Given the description of an element on the screen output the (x, y) to click on. 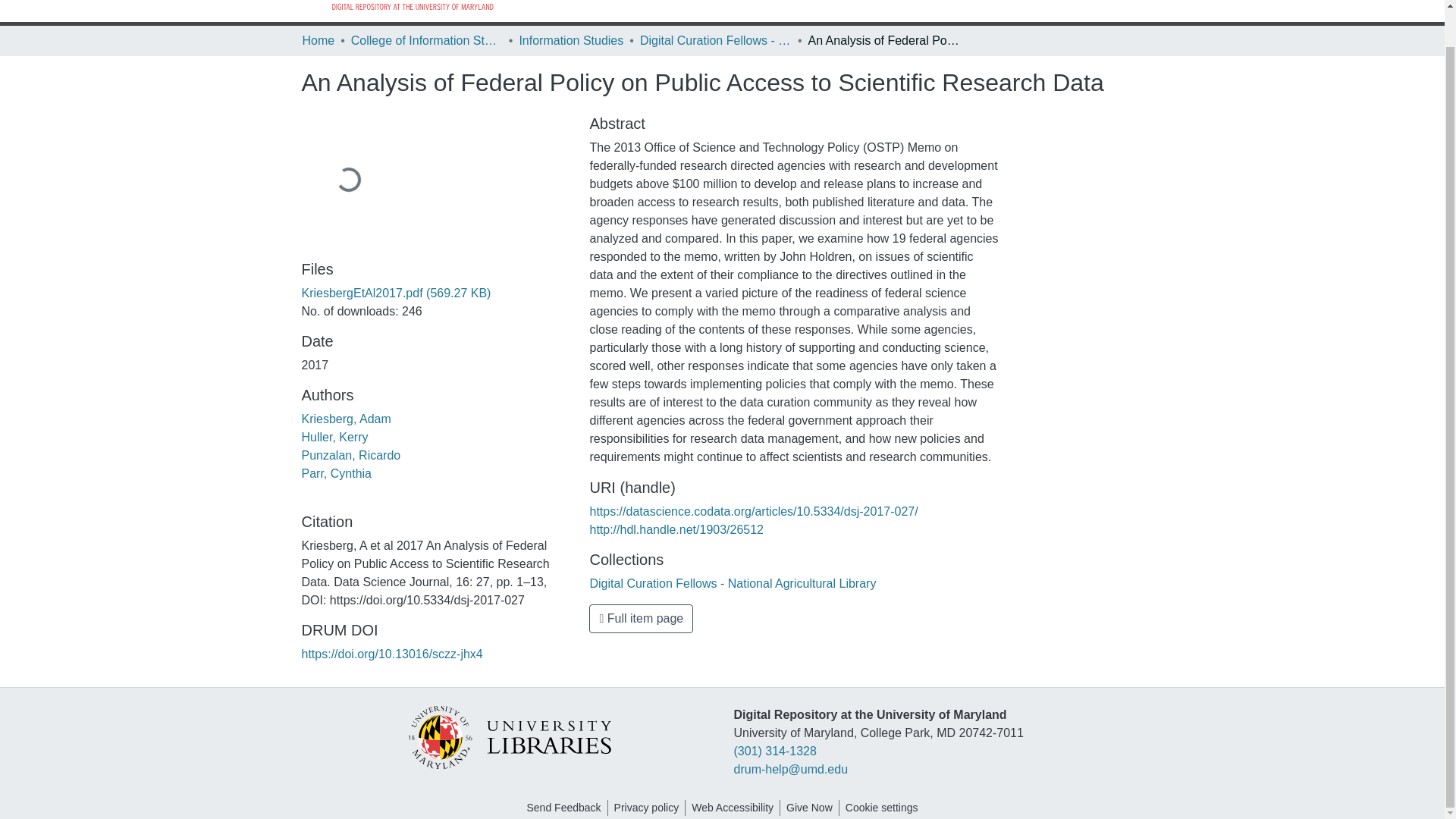
Kriesberg, Adam (346, 418)
Information Studies (570, 40)
Punzalan, Ricardo (351, 454)
Full item page (641, 618)
Privacy policy (646, 807)
College of Information Studies (426, 40)
Digital Curation Fellows - National Agricultural Library (732, 583)
Parr, Cynthia (336, 472)
Huller, Kerry (334, 436)
Send Feedback (563, 807)
Digital Curation Fellows - National Agricultural Library (716, 40)
Web Accessibility (731, 807)
Libraries Home Page (508, 736)
